Given the description of an element on the screen output the (x, y) to click on. 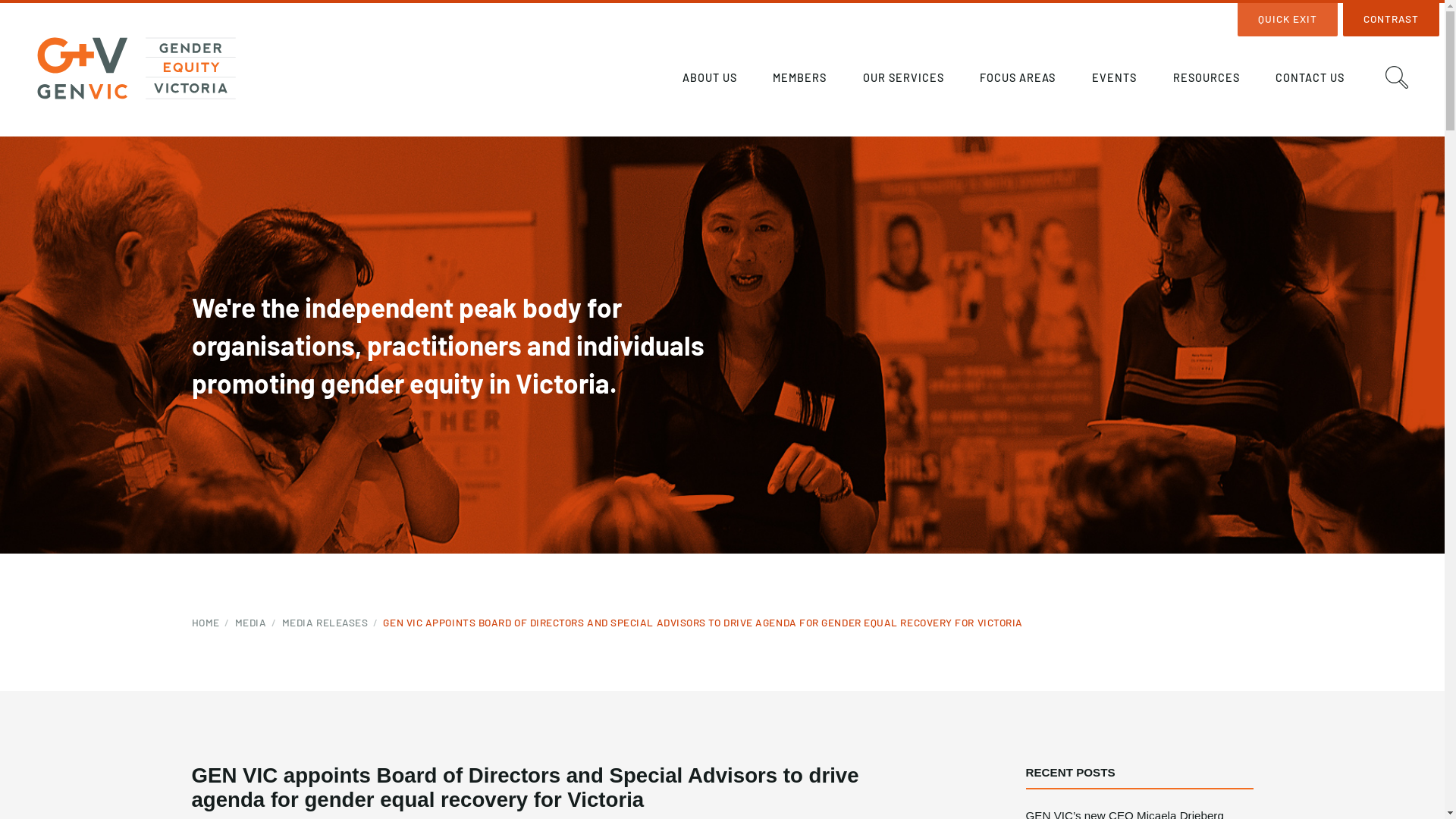
EVENTS Element type: text (1114, 79)
CONTACT US Element type: text (1310, 79)
CONTRAST Element type: text (1391, 19)
ABOUT US Element type: text (709, 79)
FOCUS AREAS Element type: text (1017, 79)
OUR SERVICES Element type: text (903, 79)
MEDIA RELEASES Element type: text (332, 622)
MEDIA Element type: text (258, 622)
Gender Equity Victoria Element type: hover (136, 68)
MEMBERS Element type: text (799, 79)
QUICK EXIT Element type: text (1287, 19)
HOME Element type: text (212, 622)
RESOURCES Element type: text (1205, 79)
Search the website Element type: text (1396, 76)
